Given the description of an element on the screen output the (x, y) to click on. 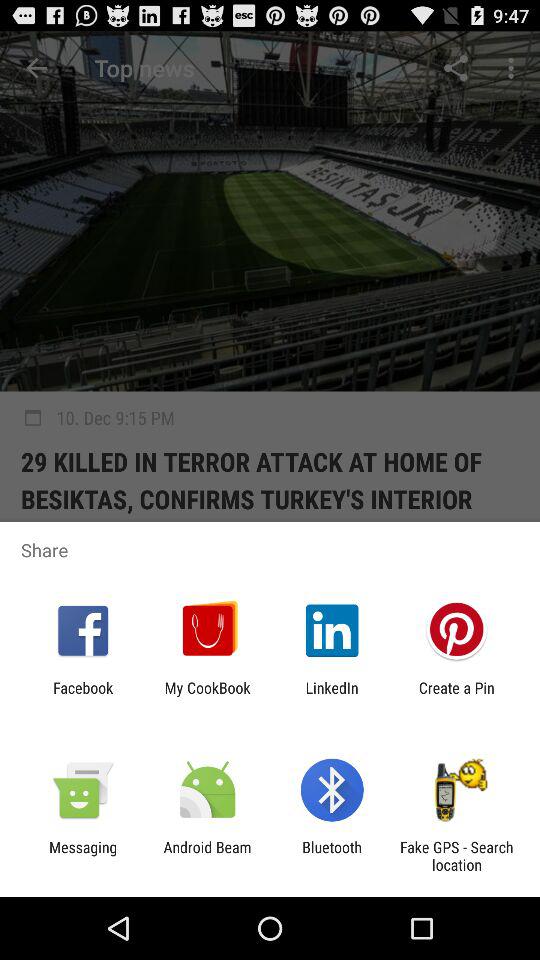
turn off the app to the right of android beam item (331, 856)
